Given the description of an element on the screen output the (x, y) to click on. 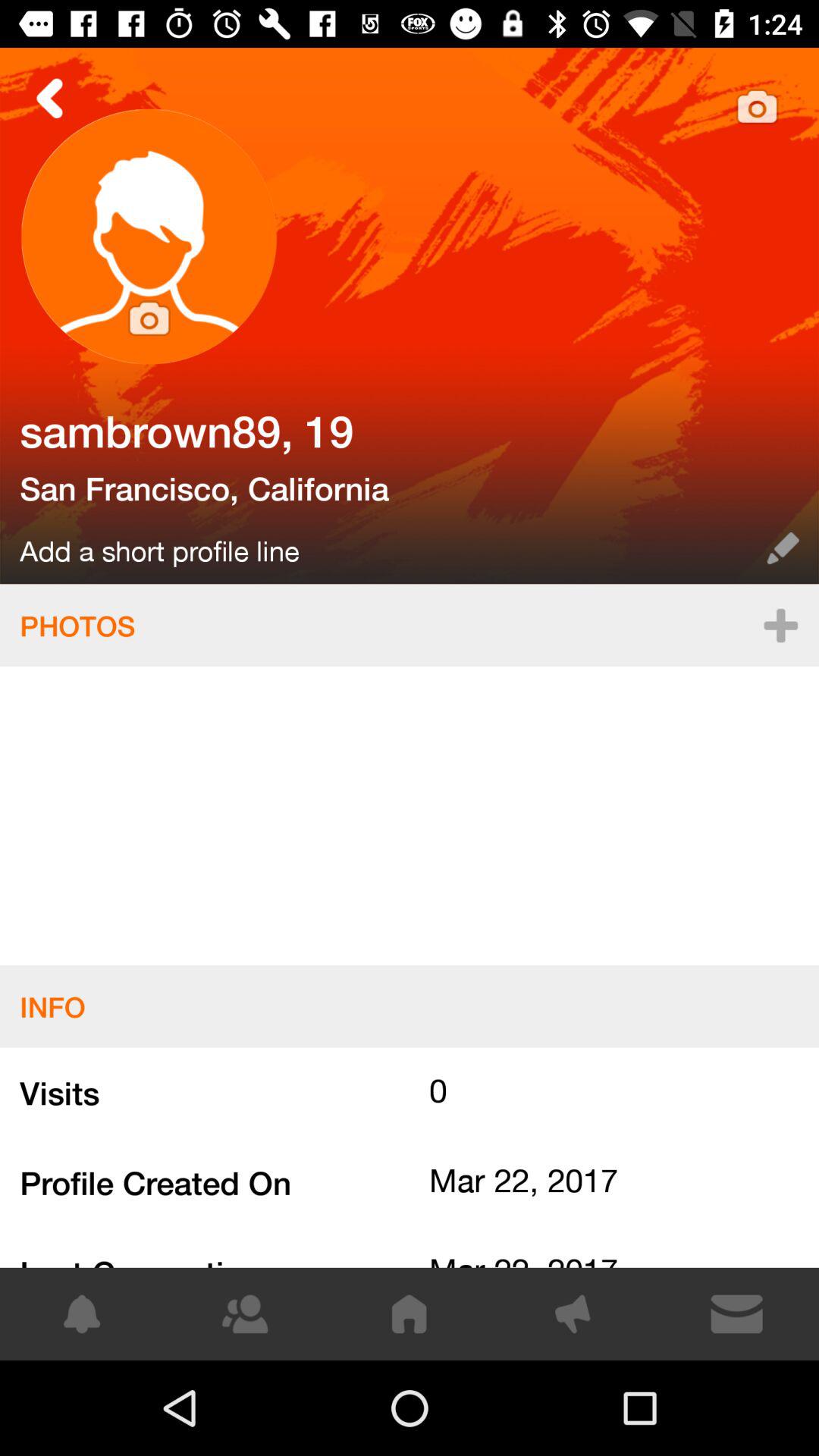
select the item below the san francisco, california item (383, 548)
